Given the description of an element on the screen output the (x, y) to click on. 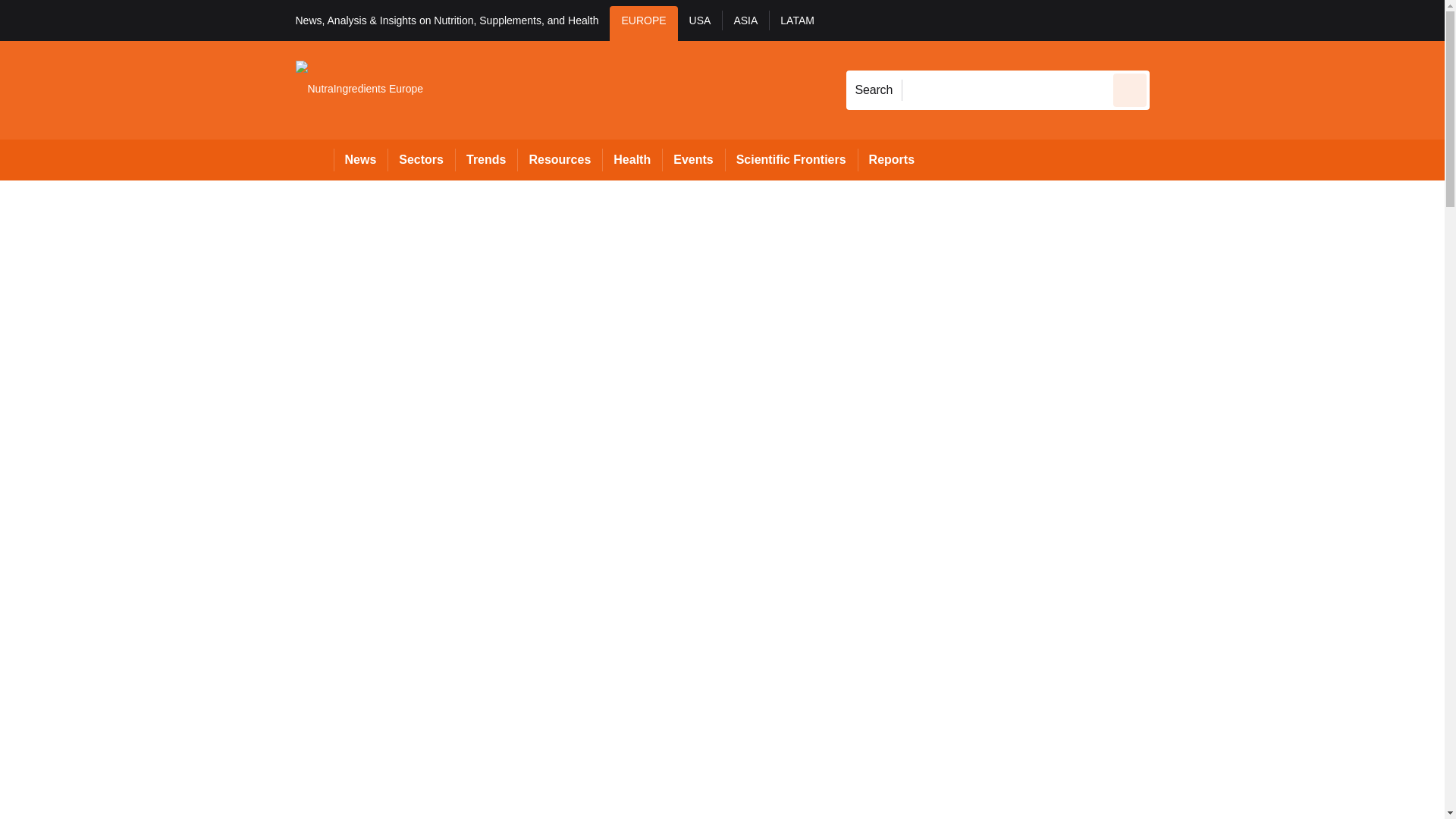
Send (1129, 90)
Sign in (1171, 20)
Home (314, 159)
ASIA (745, 22)
Sign out (1174, 20)
USA (700, 22)
News (360, 159)
Register (1231, 20)
NutraIngredients Europe (359, 89)
Sectors (420, 159)
